Given the description of an element on the screen output the (x, y) to click on. 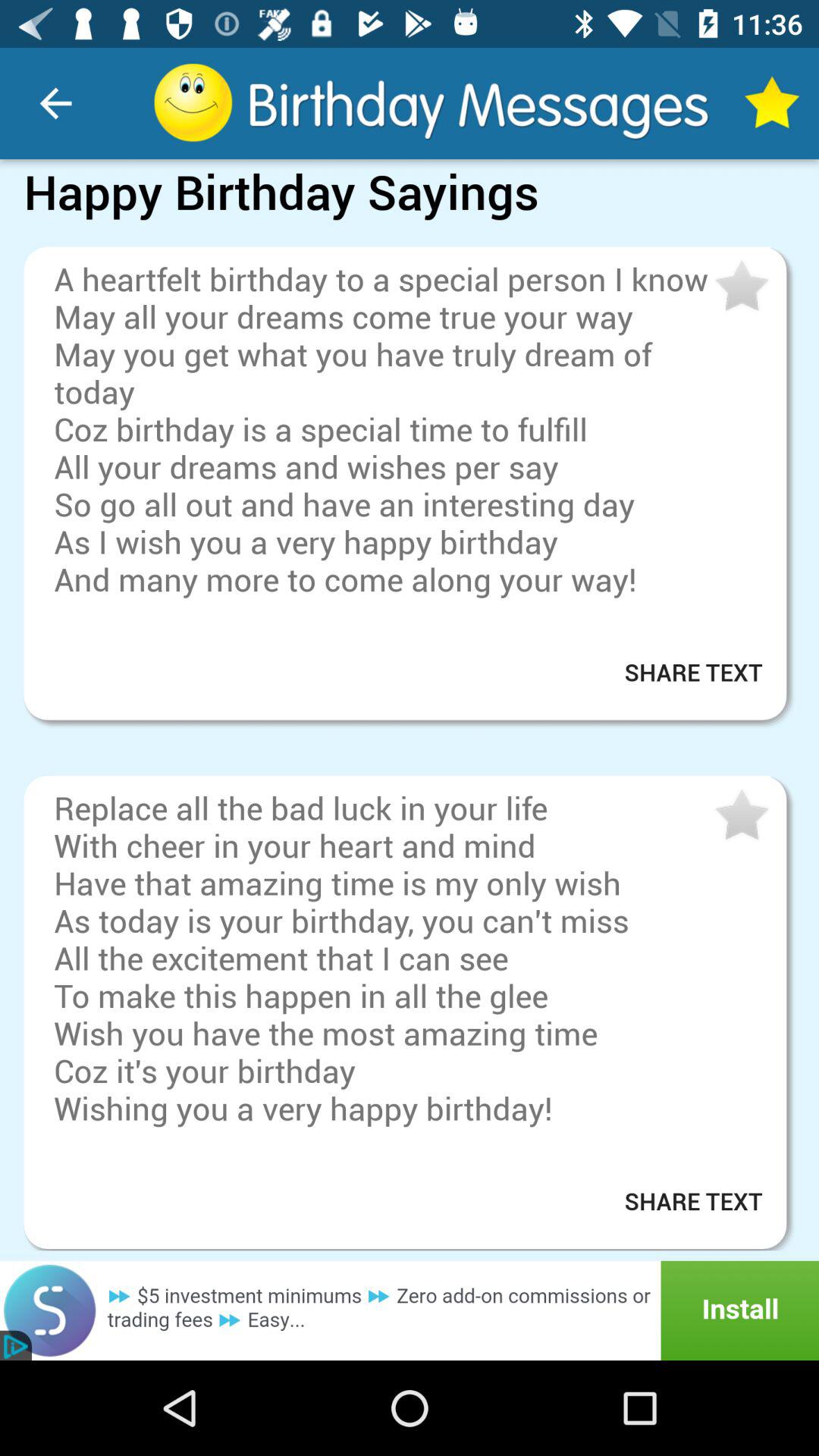
favorite the message (740, 815)
